Given the description of an element on the screen output the (x, y) to click on. 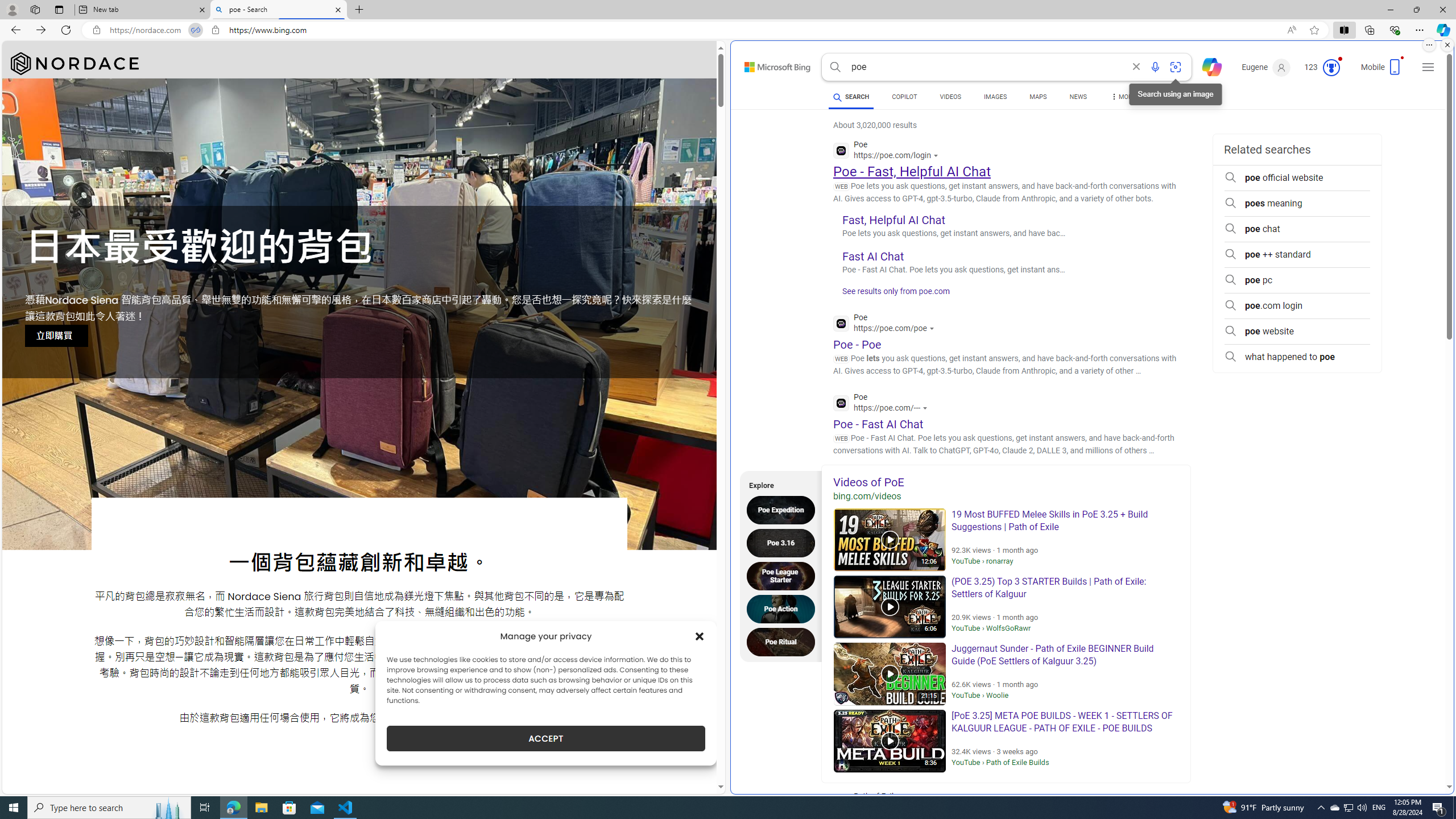
Skip to content (764, 63)
MORE (1123, 98)
App bar (728, 29)
poes meaning (1297, 203)
Dropdown Menu (1123, 96)
Poe (882, 403)
Videos of PoE (1005, 481)
poe - Search (277, 9)
VIDEOS (950, 96)
poe website (1297, 331)
TOOLS (1171, 96)
